Given the description of an element on the screen output the (x, y) to click on. 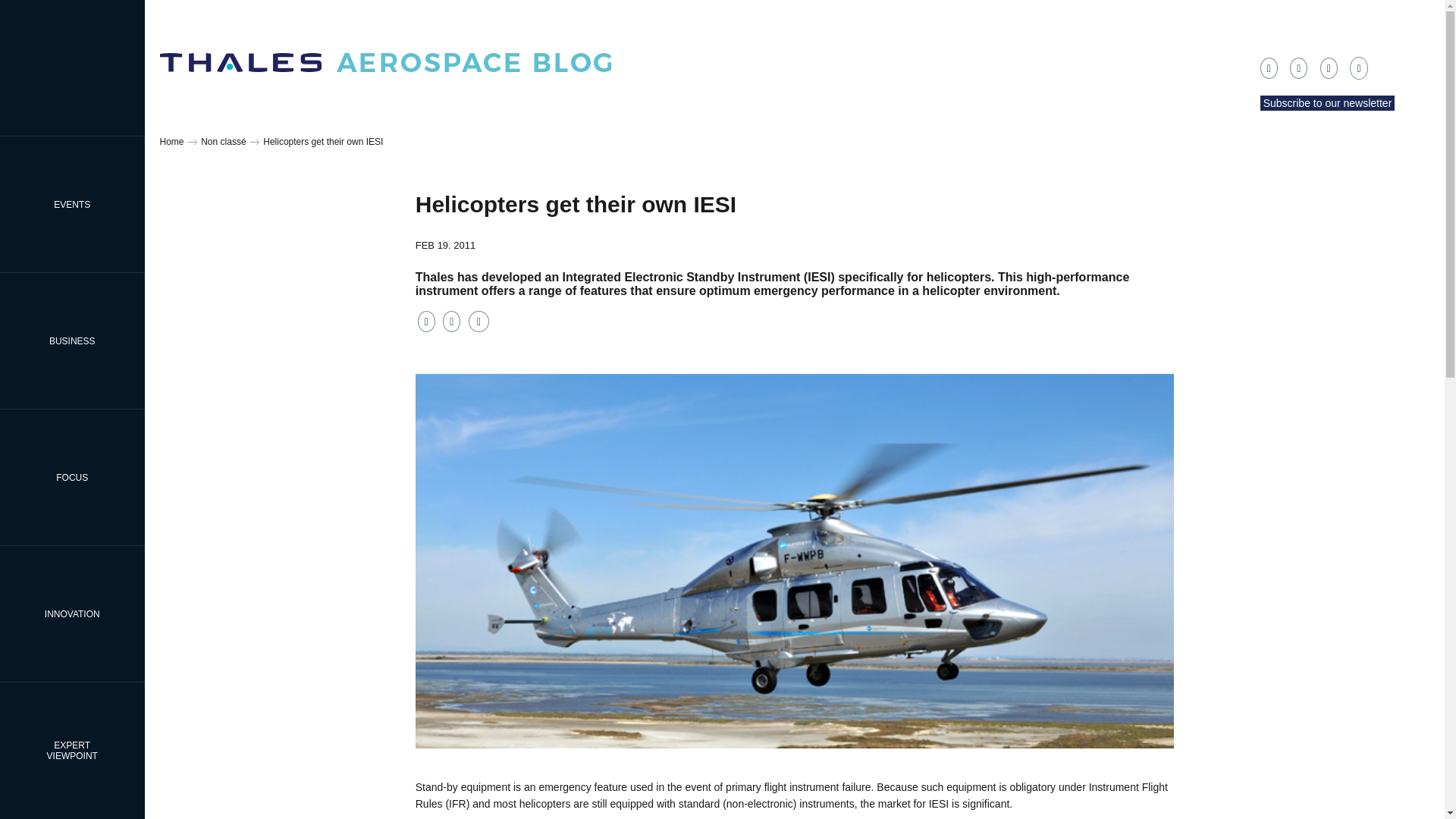
EVENTS (72, 203)
Subscribe to our newsletter (1327, 102)
Home (170, 141)
FOCUS (72, 750)
BUSINESS (72, 477)
INNOVATION (72, 340)
